Given the description of an element on the screen output the (x, y) to click on. 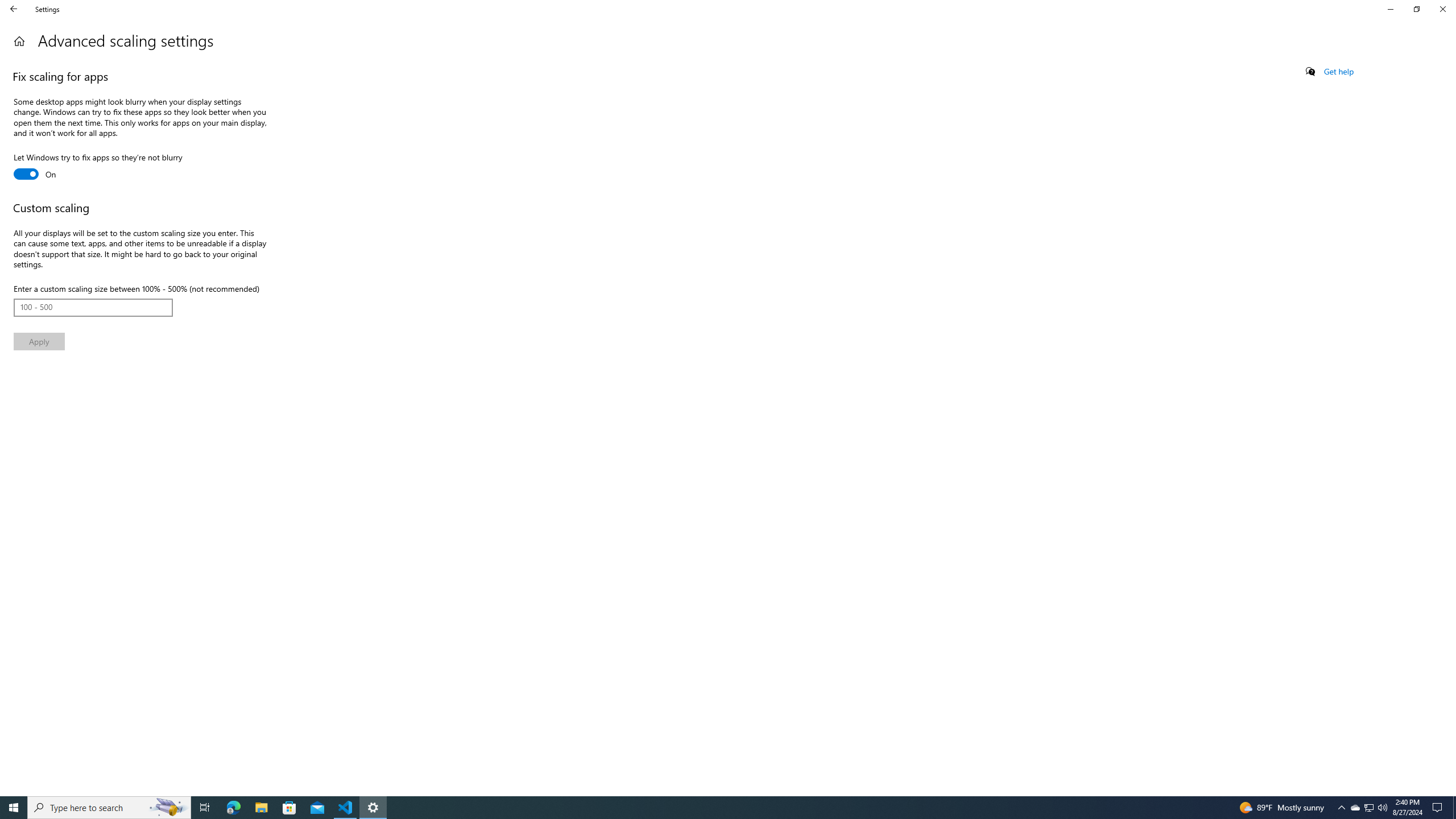
Minimize Settings (1390, 9)
Restore Settings (1416, 9)
Back (13, 9)
